Given the description of an element on the screen output the (x, y) to click on. 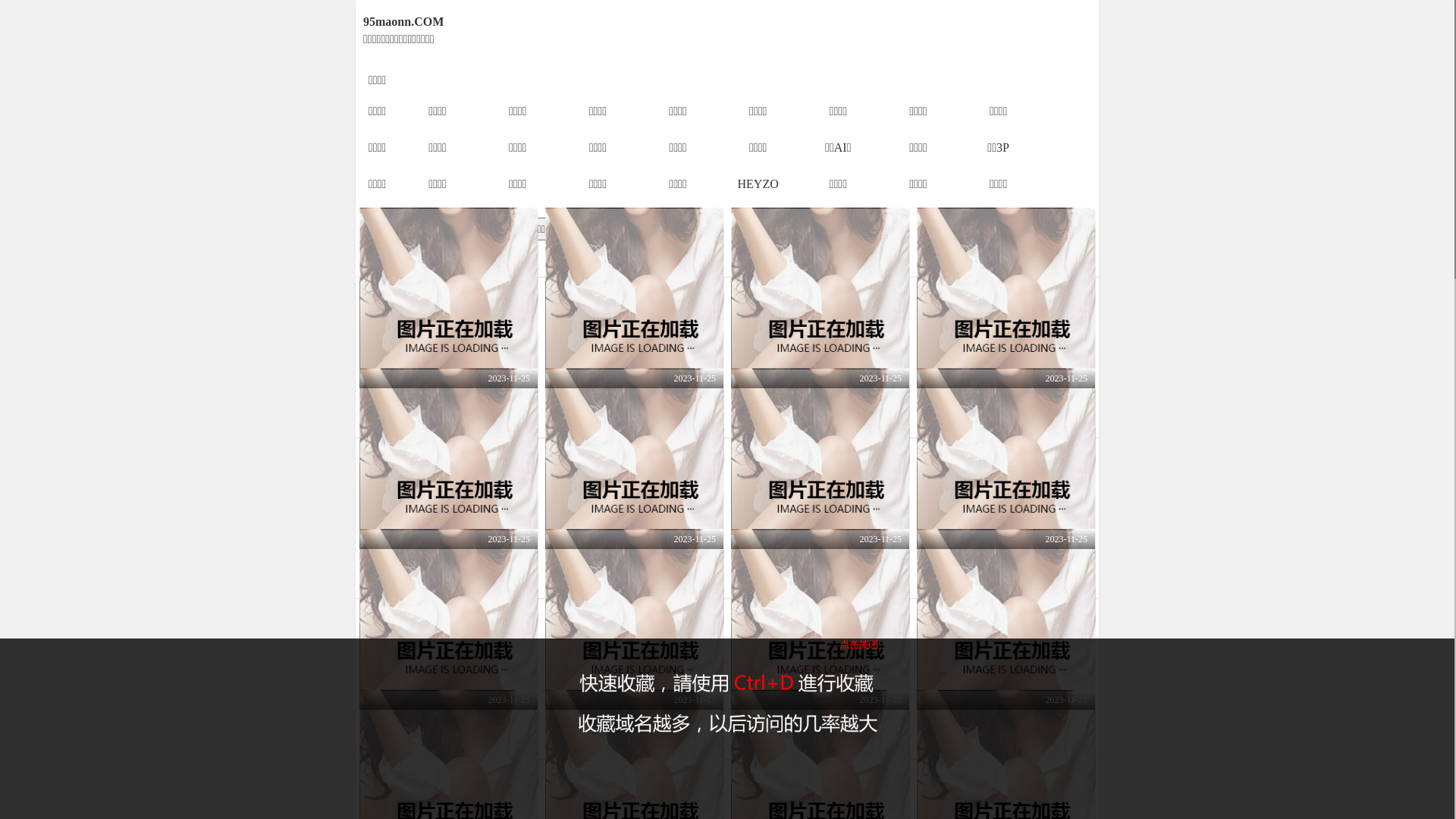
2023-11-25 Element type: text (448, 334)
2023-11-25 Element type: text (448, 655)
2023-11-25 Element type: text (820, 334)
2023-11-25 Element type: text (1005, 334)
2023-11-25 Element type: text (448, 495)
2023-11-25 Element type: text (820, 495)
2023-11-25 Element type: text (1005, 655)
HEYZO Element type: text (757, 183)
2023-11-25 Element type: text (634, 495)
2023-11-25 Element type: text (1005, 495)
95maonn.COM Element type: text (654, 21)
2023-11-25 Element type: text (634, 334)
2023-11-25 Element type: text (634, 655)
2023-11-25 Element type: text (820, 655)
